Given the description of an element on the screen output the (x, y) to click on. 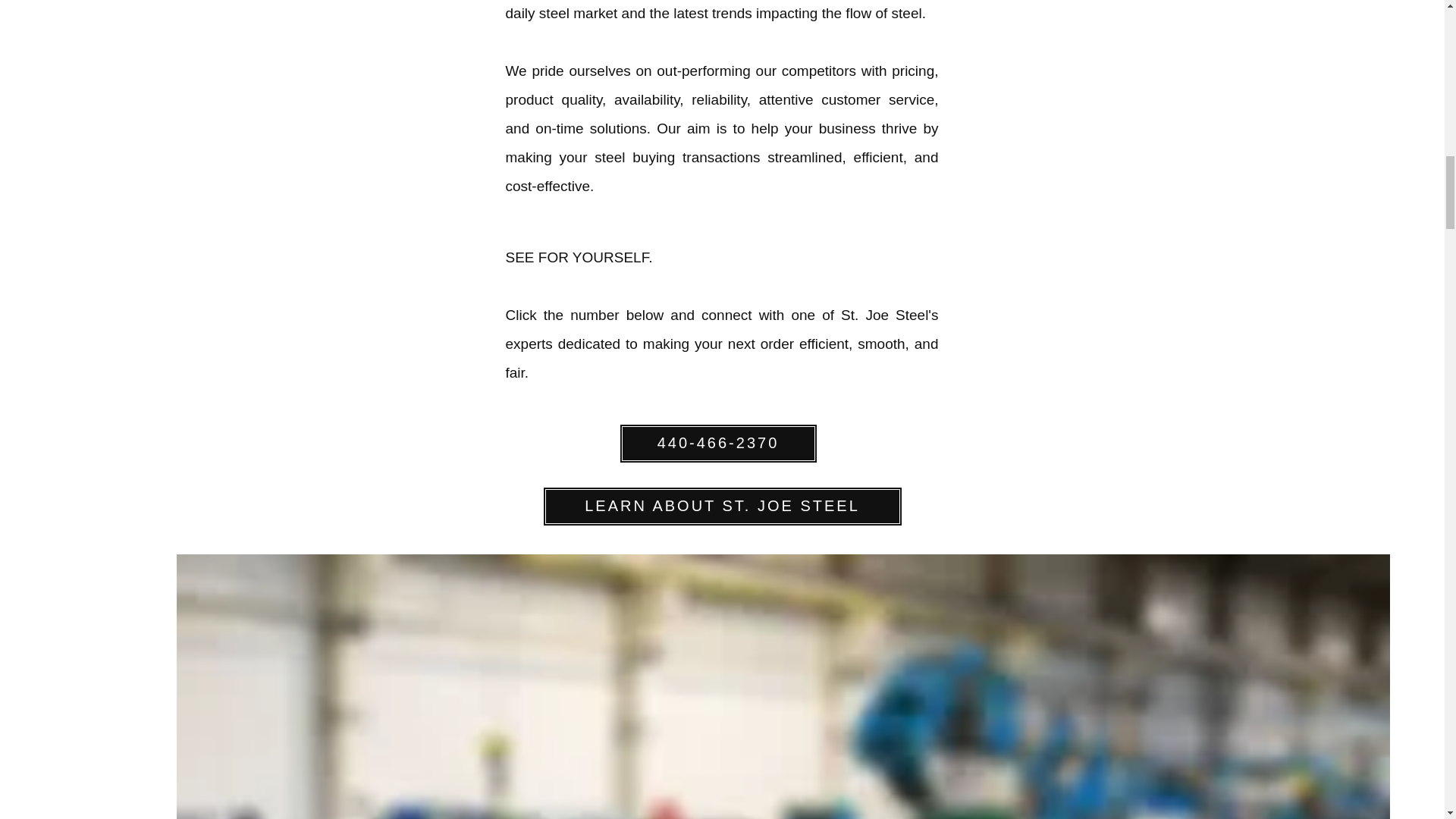
LEARN ABOUT ST. JOE STEEL (722, 506)
440-466-2370 (717, 443)
